Given the description of an element on the screen output the (x, y) to click on. 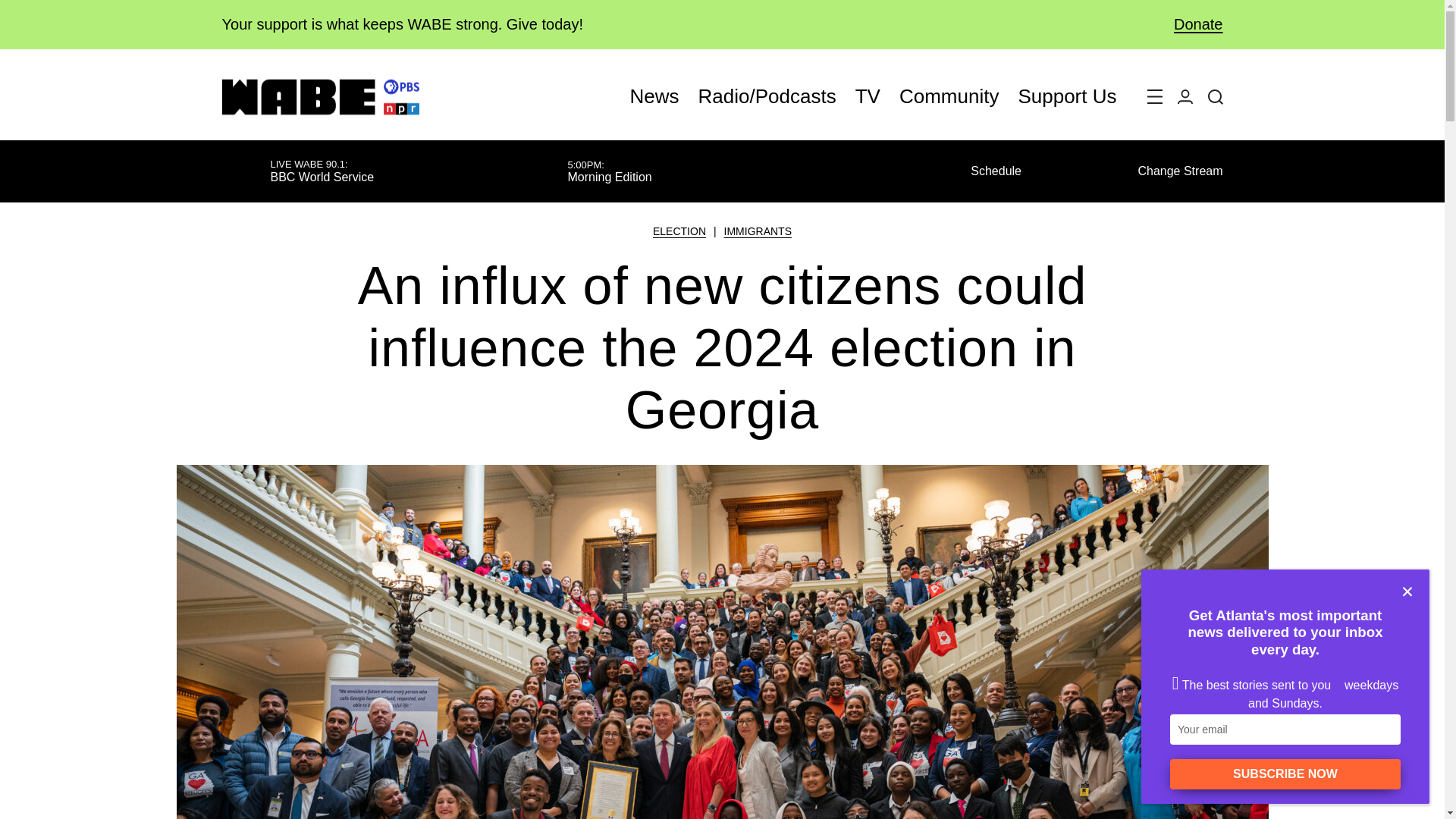
Donate (1186, 24)
News (654, 96)
